Given the description of an element on the screen output the (x, y) to click on. 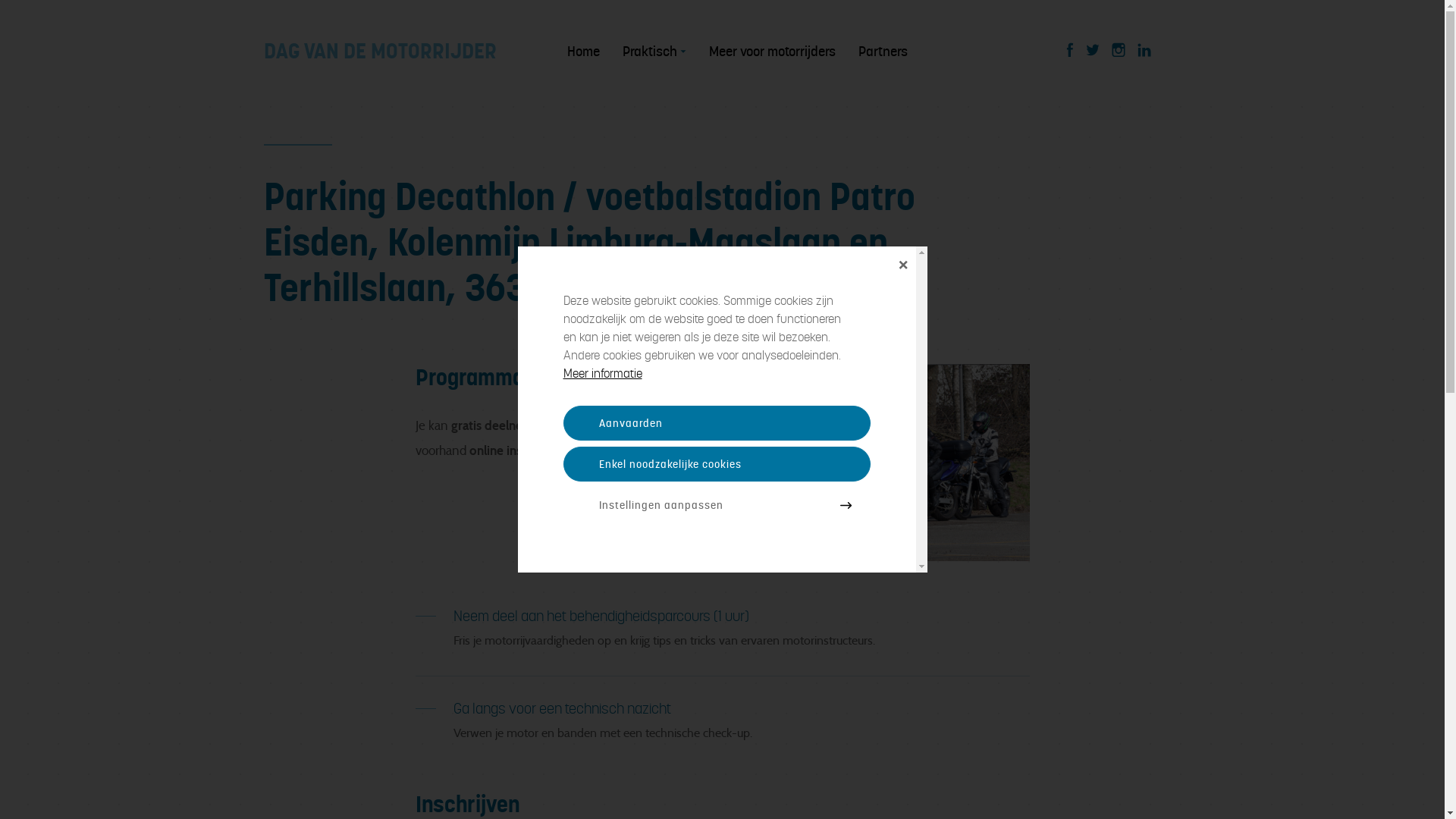
Meer voor motorrijders Element type: text (771, 51)
Partners Element type: text (882, 51)
DAG VAN DE MOTORRIJDER Element type: text (415, 51)
Aanvaarden Element type: text (715, 422)
Enkel noodzakelijke cookies Element type: text (715, 463)
Instellingen aanpassen Element type: text (715, 504)
Meer informatie Element type: text (601, 373)
Praktisch Element type: text (648, 51)
Home Element type: text (583, 51)
